Given the description of an element on the screen output the (x, y) to click on. 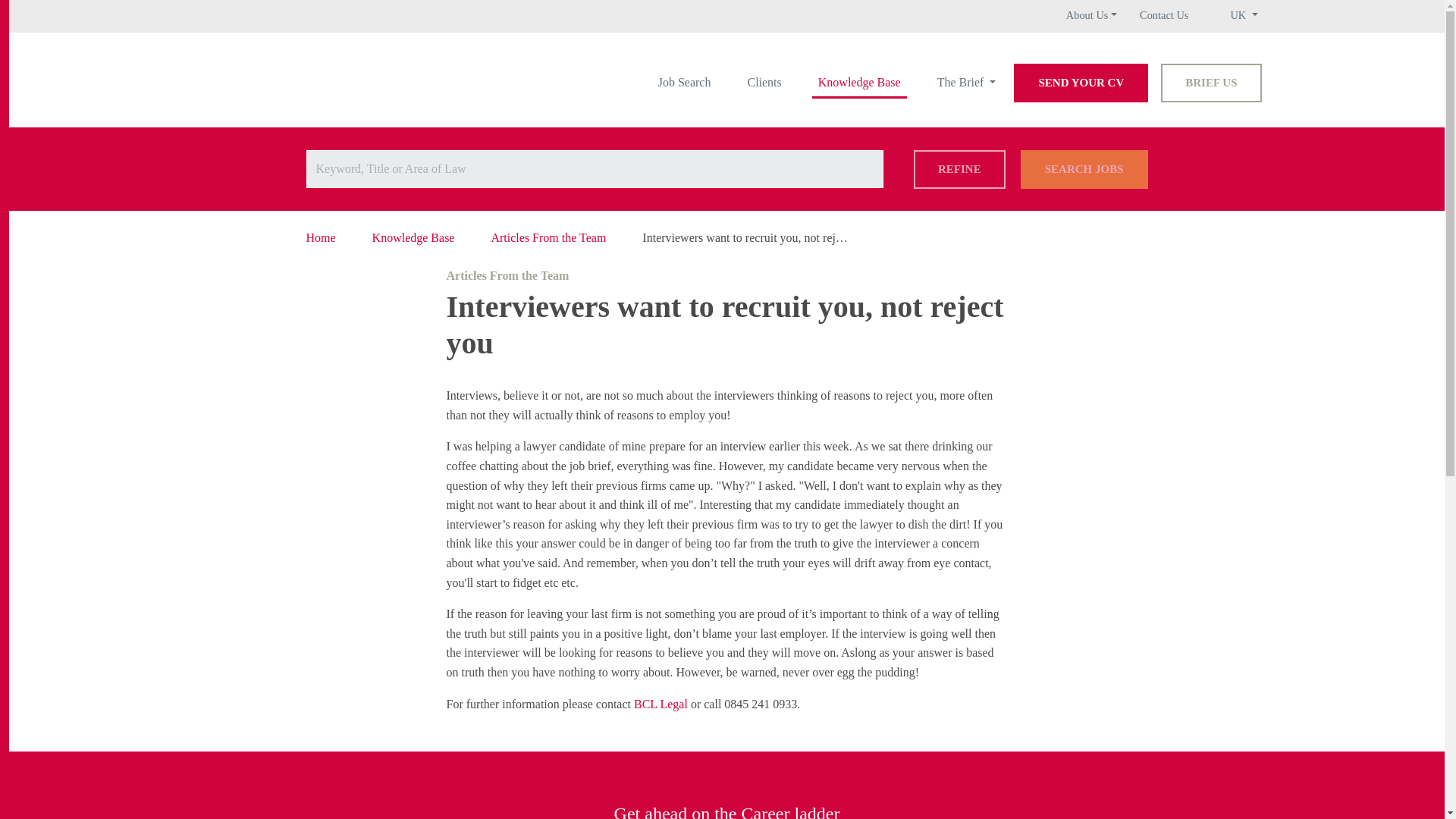
Knowledge Base (859, 82)
About Us (1090, 15)
Job Search (684, 82)
The Brief (967, 82)
Clients (764, 82)
UK (1243, 15)
Contact Us (1164, 15)
